Given the description of an element on the screen output the (x, y) to click on. 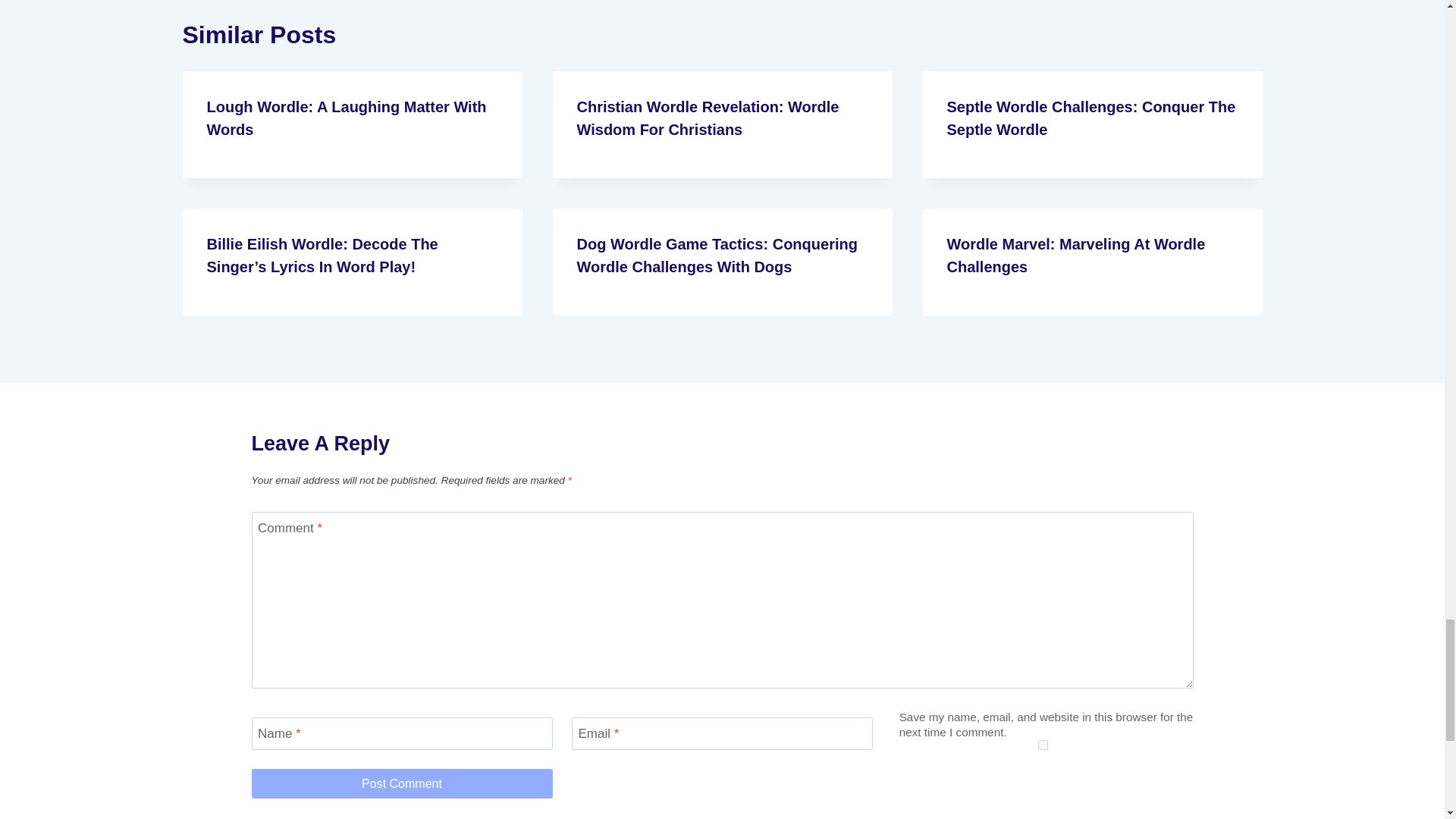
Post Comment (402, 783)
yes (1041, 745)
Lough Wordle: A Laughing Matter With Words (346, 118)
Christian Wordle Revelation: Wordle Wisdom For Christians (707, 118)
